Given the description of an element on the screen output the (x, y) to click on. 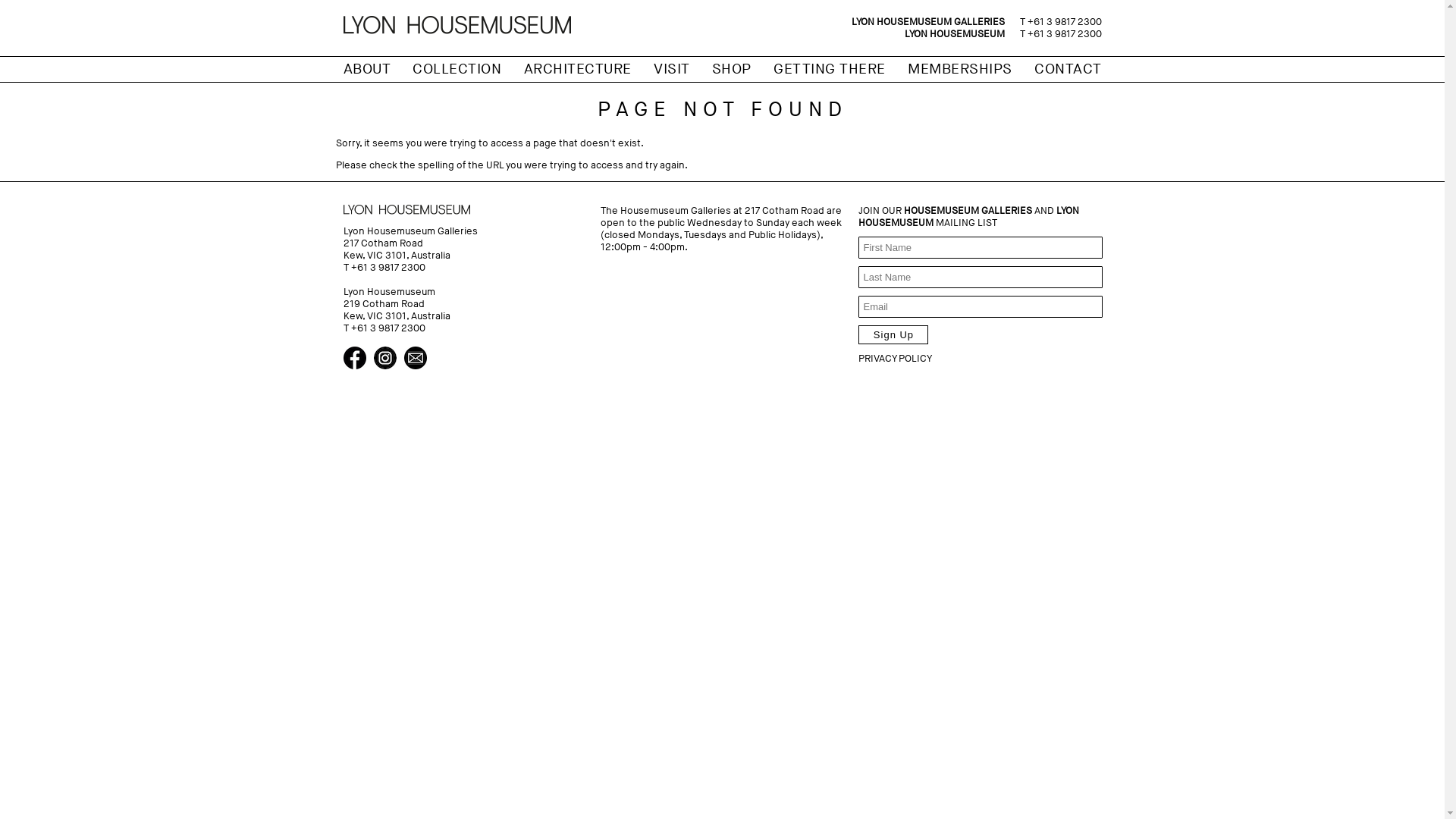
GETTING THERE Element type: text (829, 68)
COLLECTION Element type: text (456, 68)
MEMBERSHIPS Element type: text (959, 68)
CONTACT Element type: text (1067, 68)
SHOP Element type: text (731, 68)
ABOUT Element type: text (366, 68)
ARCHITECTURE Element type: text (577, 68)
PRIVACY POLICY Element type: text (894, 358)
Sign Up Element type: text (893, 334)
VISIT Element type: text (671, 68)
